Given the description of an element on the screen output the (x, y) to click on. 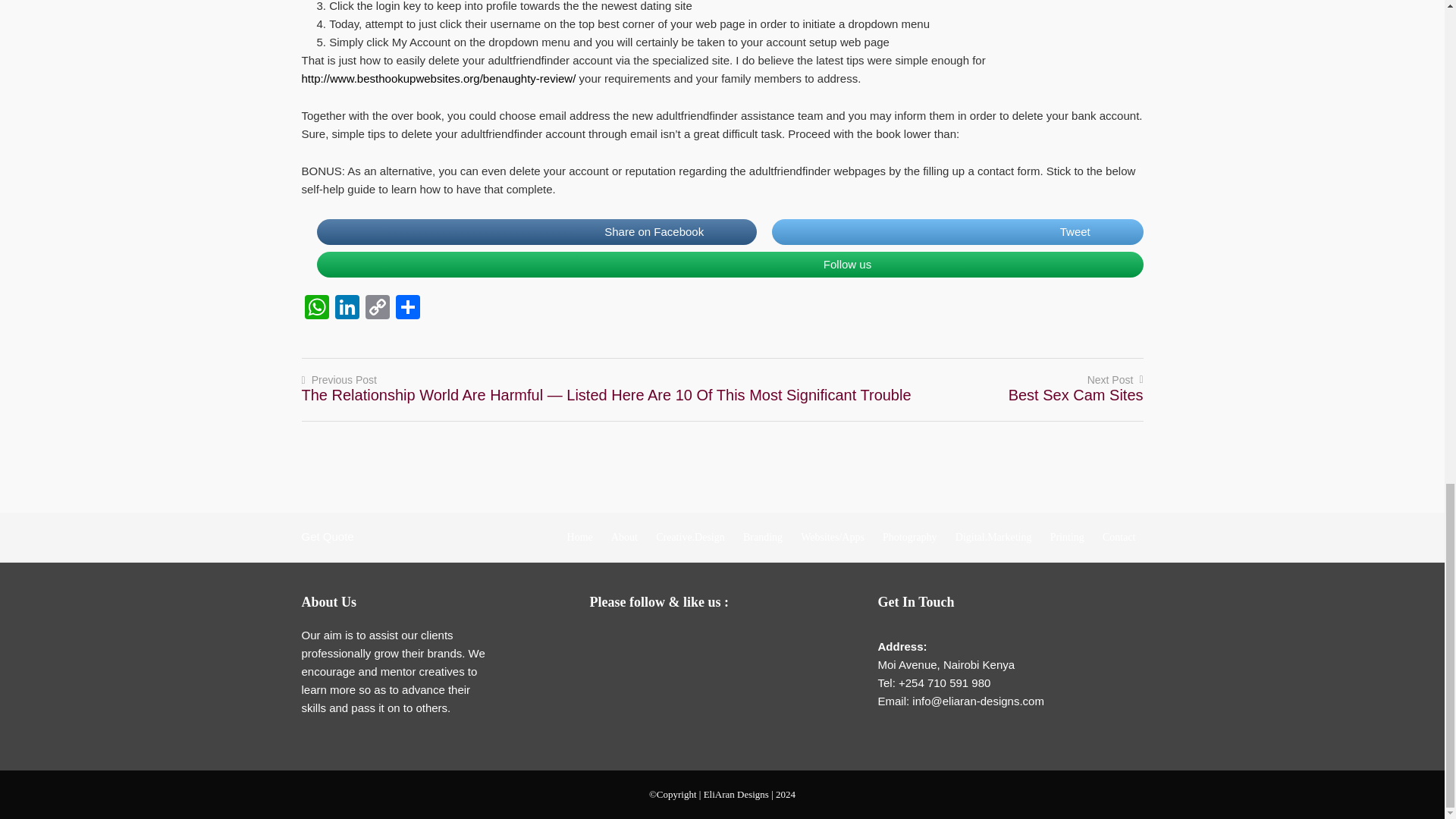
Instagram (728, 640)
Facebook (637, 640)
WhatsApp (316, 308)
LinkedIn (346, 308)
Twitter (667, 640)
Follow by Email (606, 640)
LinkedIn (698, 640)
Copy Link (377, 308)
